Given the description of an element on the screen output the (x, y) to click on. 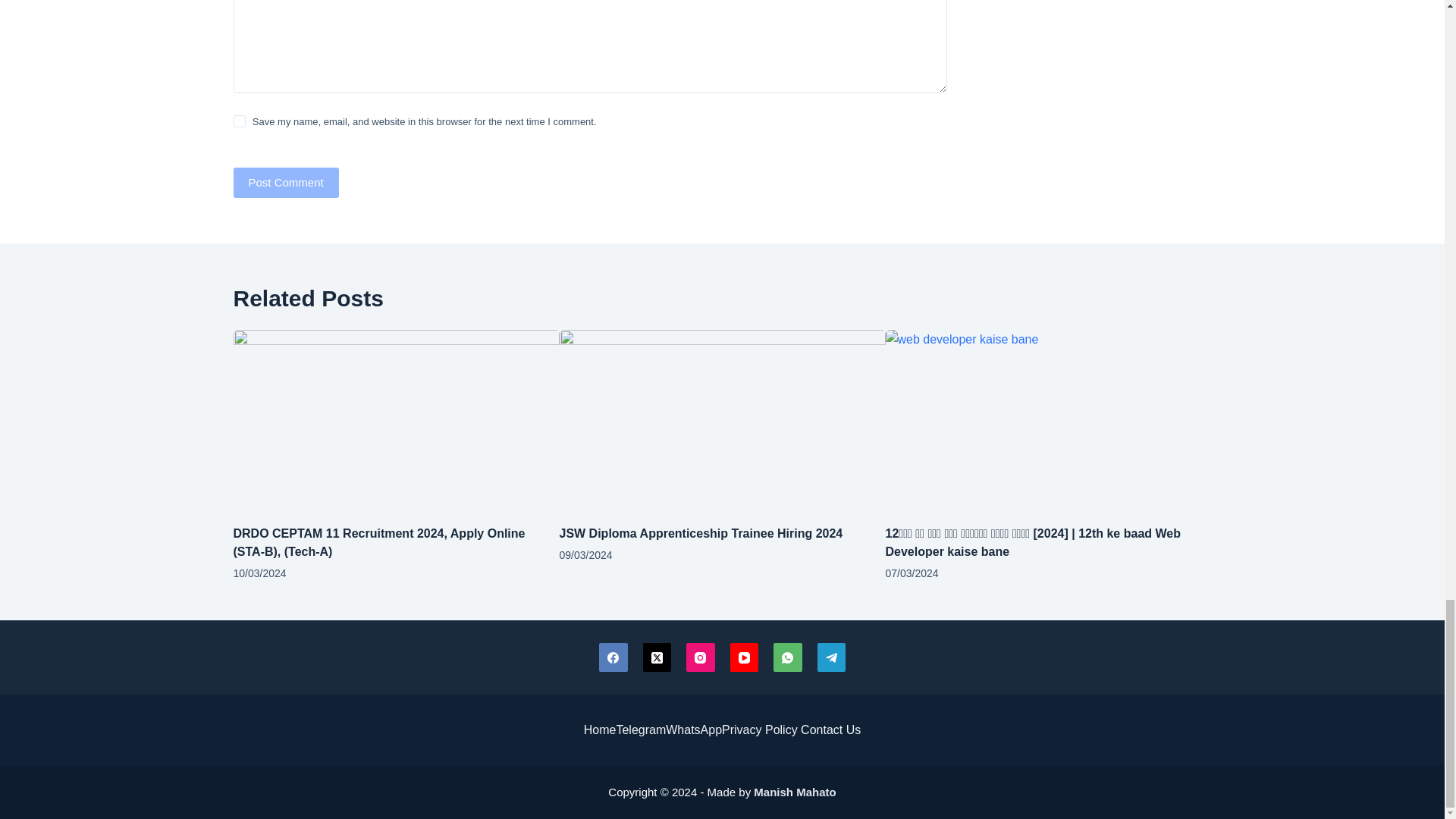
yes (239, 121)
